Given the description of an element on the screen output the (x, y) to click on. 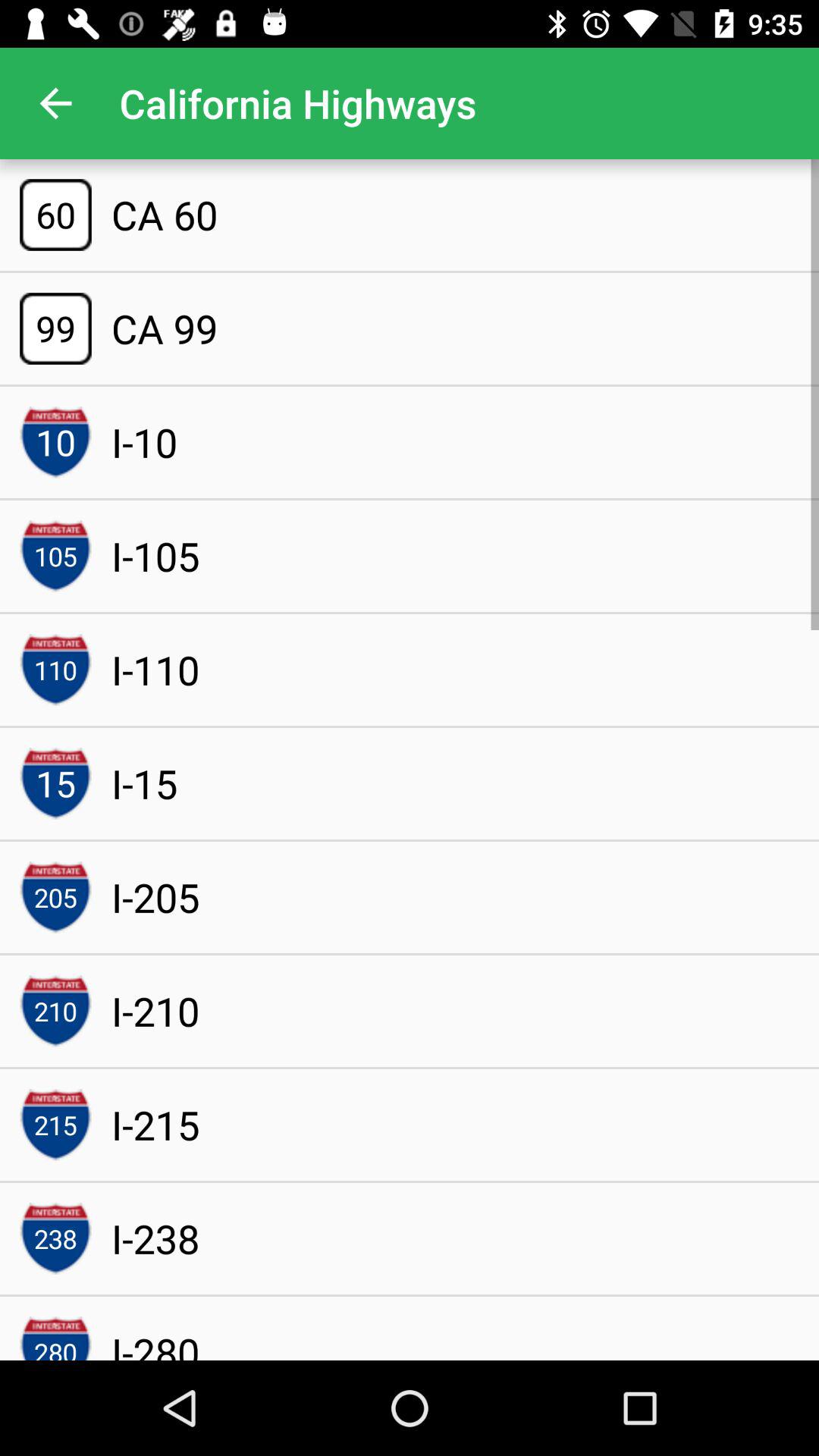
turn on the item to the left of california highways (55, 103)
